Given the description of an element on the screen output the (x, y) to click on. 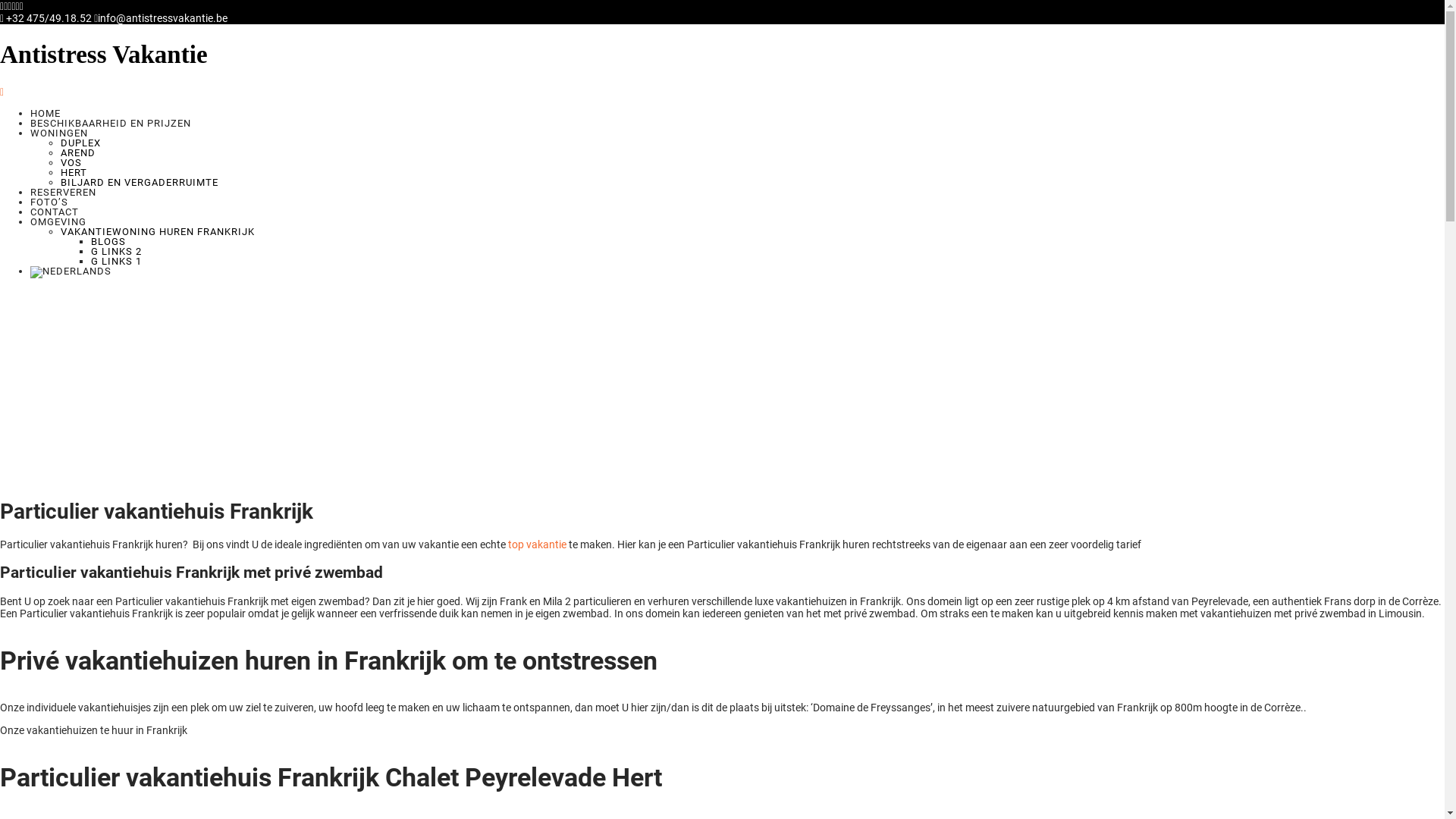
info@antistressvakantie.be Element type: text (160, 18)
top vakantie Element type: text (537, 544)
VAKANTIEWONING HUREN FRANKRIJK Element type: text (157, 231)
rss Element type: hover (21, 6)
RESERVEREN Element type: text (63, 191)
BLOGS Element type: text (108, 241)
DUPLEX Element type: text (80, 142)
twitter Element type: hover (5, 6)
G LINKS 2 Element type: text (116, 251)
CONTACT Element type: text (54, 211)
HOME Element type: text (45, 113)
pinterest Element type: hover (16, 6)
AREND Element type: text (77, 152)
VOS Element type: text (70, 162)
G LINKS 1 Element type: text (116, 260)
BILJARD EN VERGADERRUIMTE Element type: text (139, 182)
facebook Element type: hover (1, 6)
Antistress Vakantie Element type: text (722, 54)
BESCHIKBAARHEID EN PRIJZEN Element type: text (110, 122)
google-plus Element type: hover (9, 6)
HERT Element type: text (73, 172)
OMGEVING Element type: text (58, 221)
WONINGEN Element type: text (58, 132)
linkedin Element type: hover (13, 6)
